Given the description of an element on the screen output the (x, y) to click on. 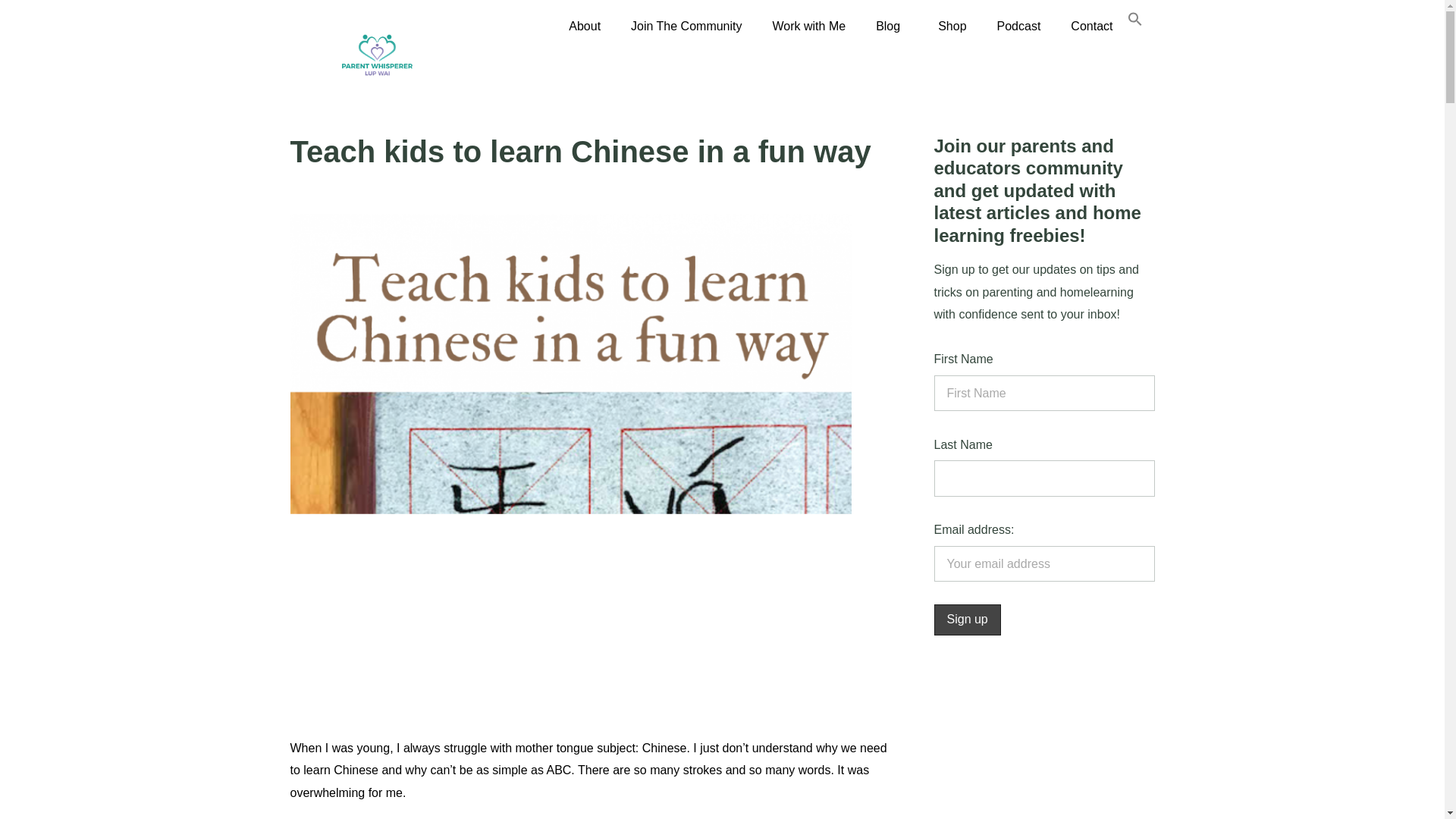
Shop (952, 25)
Skip to content (11, 31)
Contact (1090, 25)
Podcast (1019, 25)
Join The Community (686, 25)
Work with Me (809, 25)
Sign up (967, 619)
About (584, 25)
Blog (891, 25)
